Given the description of an element on the screen output the (x, y) to click on. 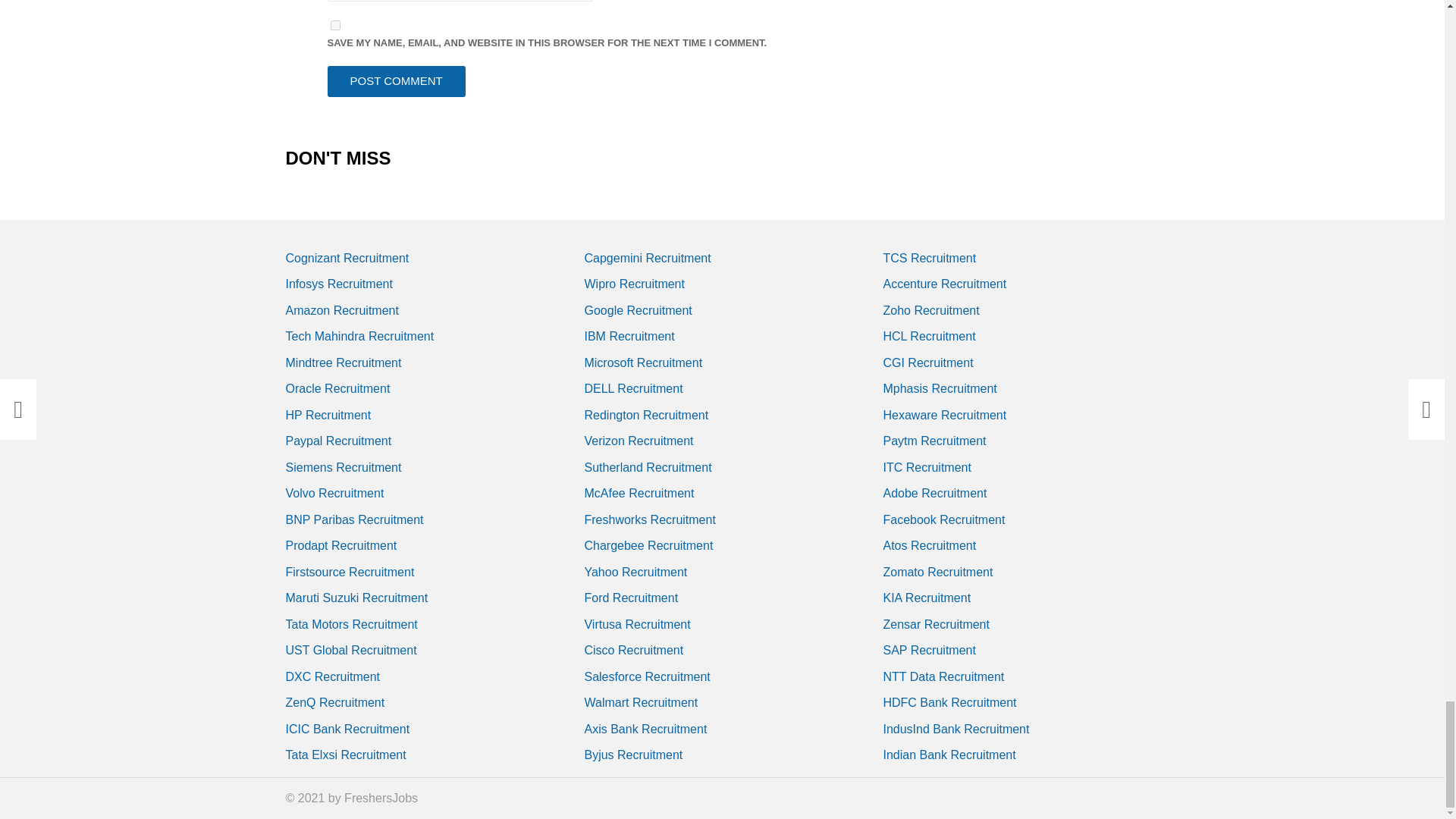
yes (335, 25)
Post Comment (396, 81)
